Given the description of an element on the screen output the (x, y) to click on. 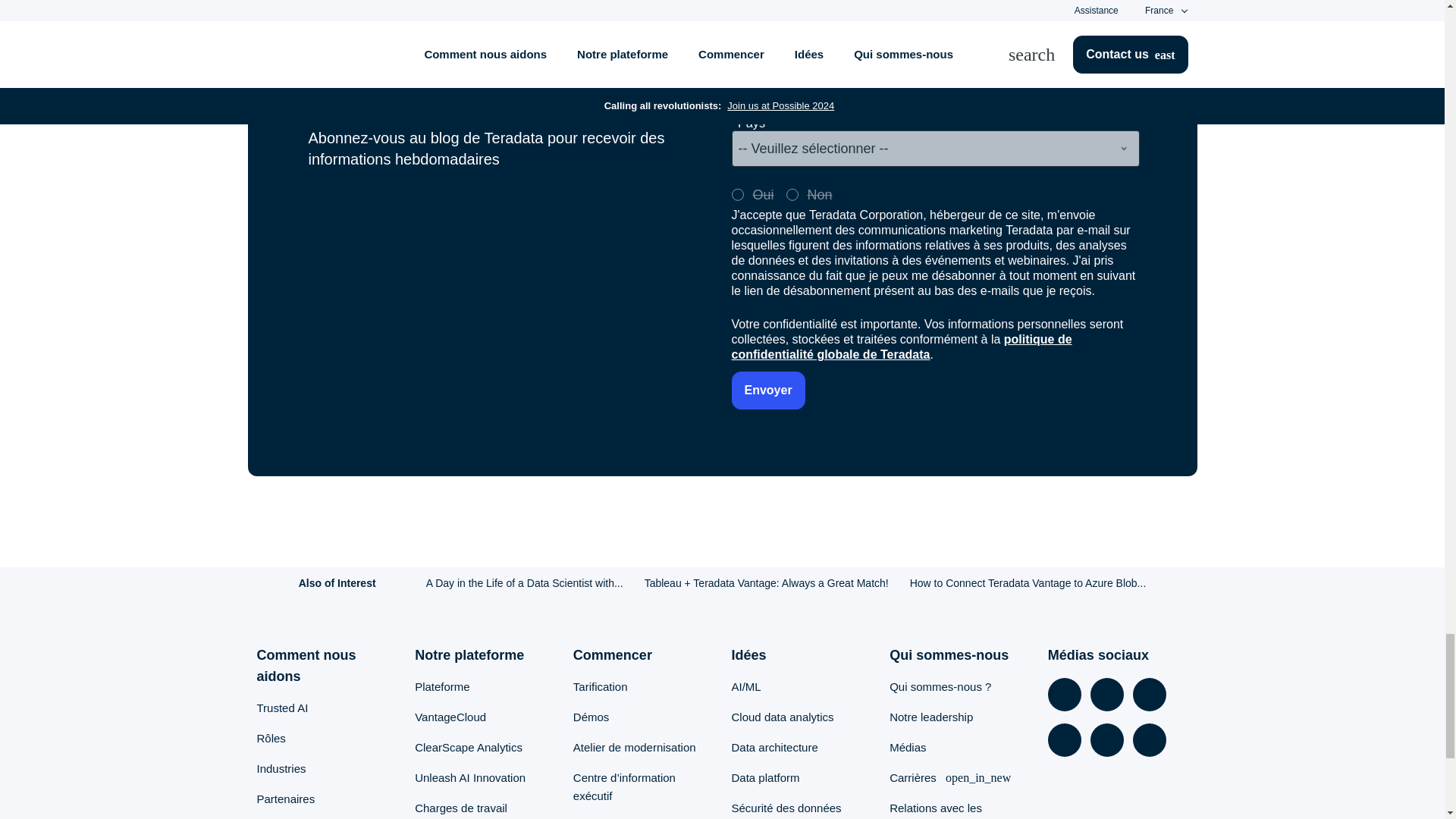
Yes (736, 194)
Envoyer (767, 390)
No (791, 194)
